Given the description of an element on the screen output the (x, y) to click on. 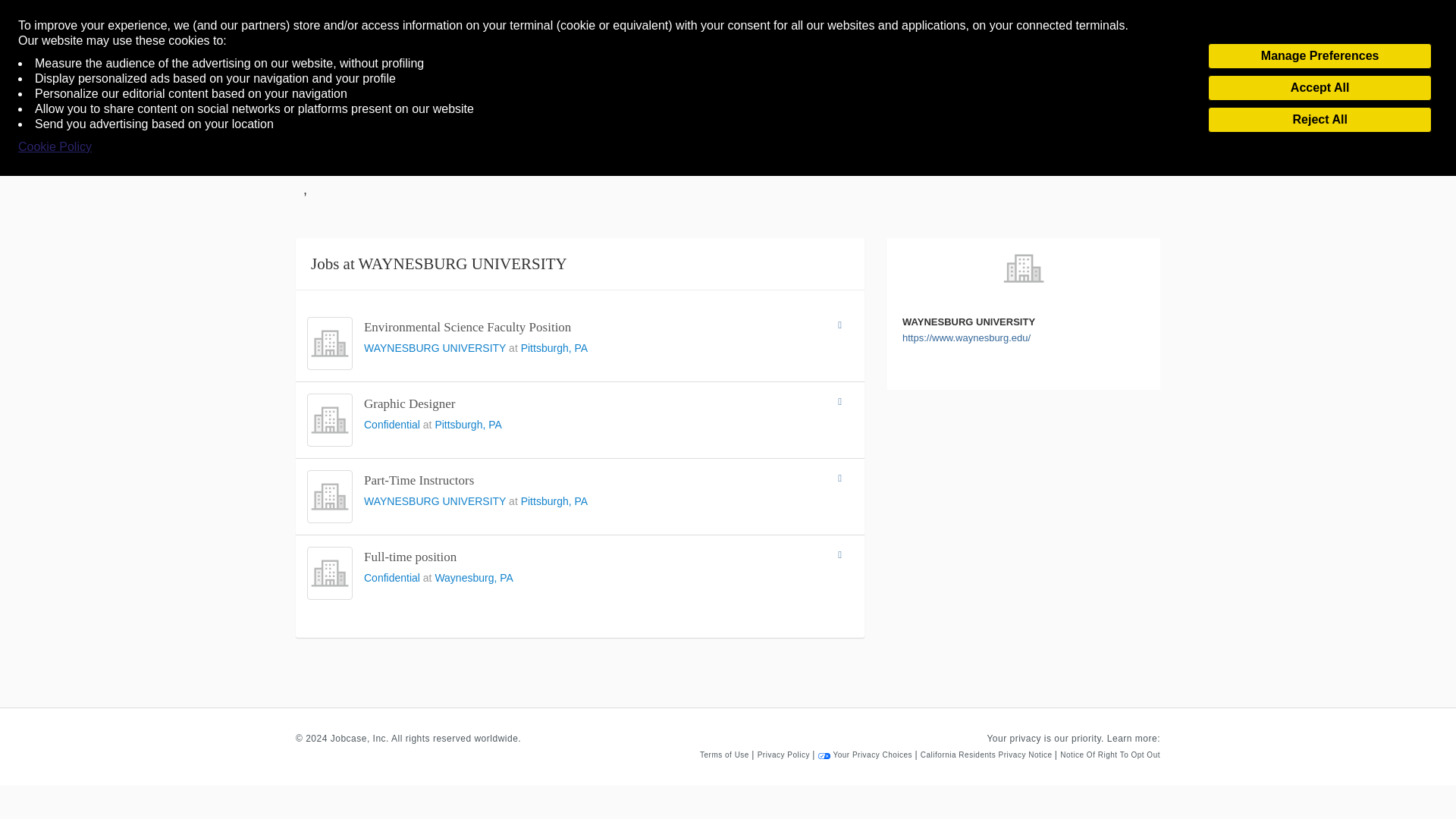
Manage Preferences (1319, 55)
WAYNESBURG UNIVERSITY (436, 347)
Post a Job (1120, 81)
Jobs (343, 81)
Environmental Science Faculty Position (467, 327)
Notice Of Right To Opt Out (1109, 755)
WAYNESBURG UNIVERSITY (436, 500)
Part-Time Instructors (419, 480)
Privacy Policy (784, 755)
Graphic Designer (409, 403)
